Given the description of an element on the screen output the (x, y) to click on. 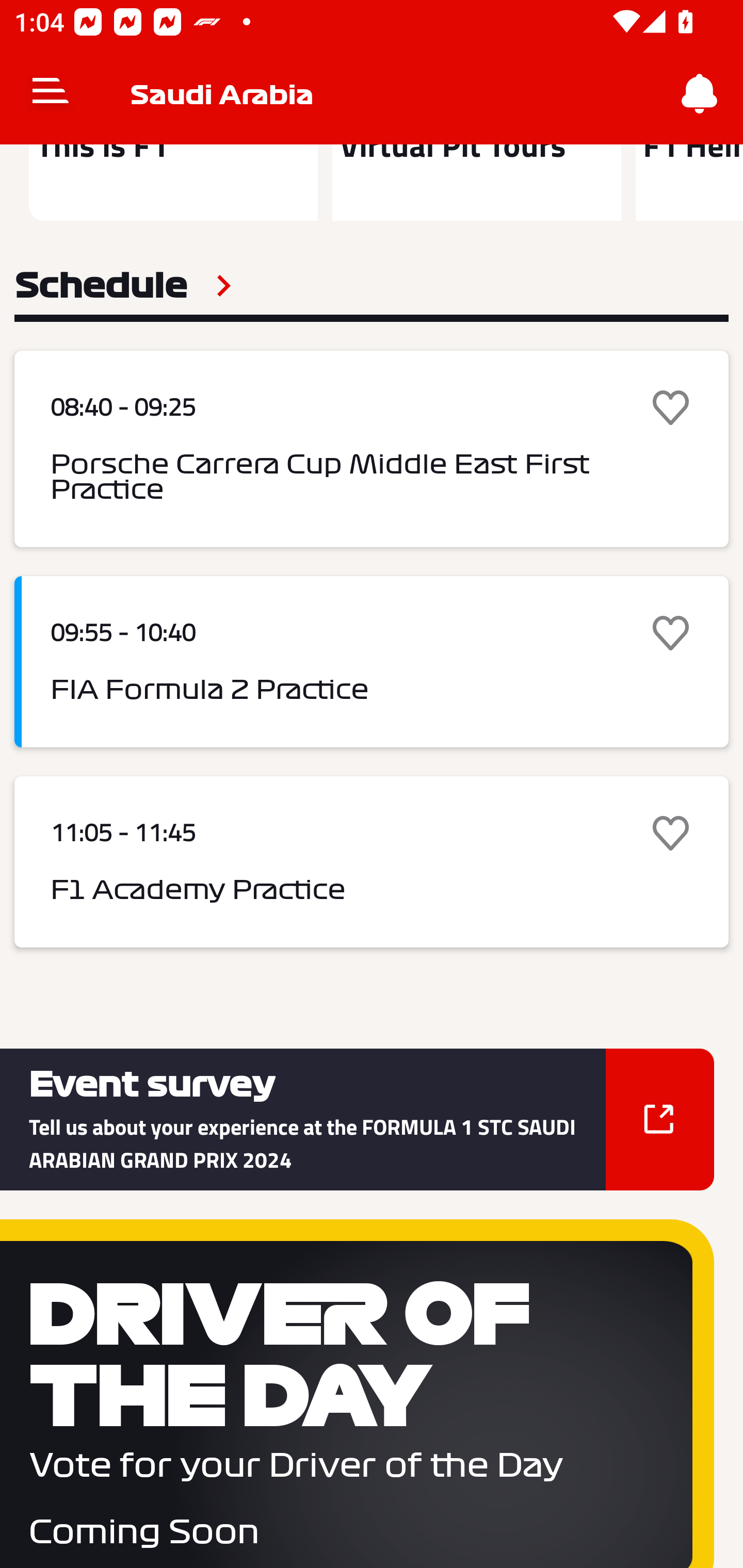
Navigate up (50, 93)
Notifications (699, 93)
Schedule (122, 285)
09:55 - 10:40 FIA Formula 2 Practice (371, 661)
11:05 - 11:45 F1 Academy Practice (371, 861)
